Given the description of an element on the screen output the (x, y) to click on. 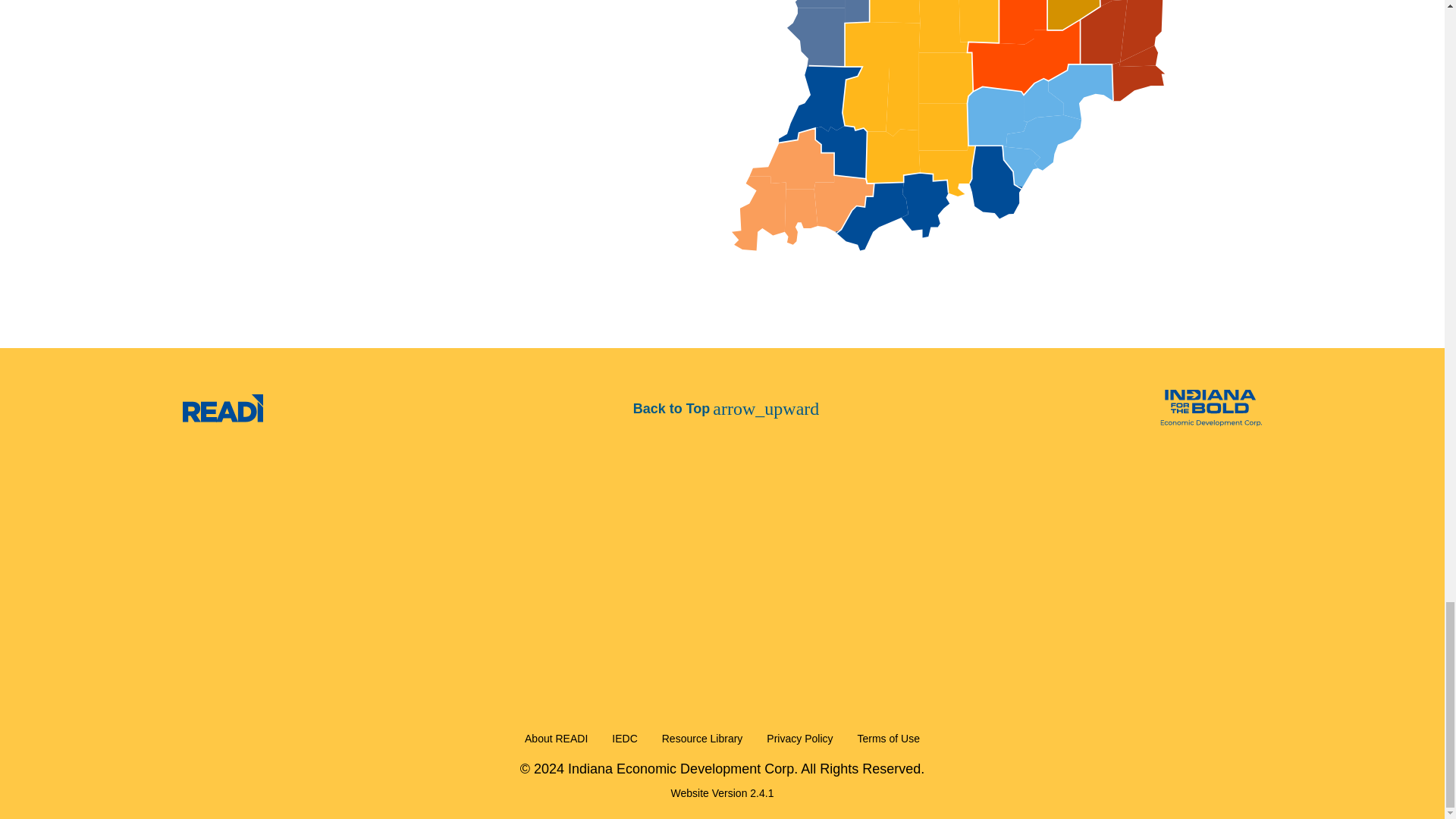
Form 0 (721, 556)
Resource Library (702, 738)
About READI (555, 738)
Privacy Policy (799, 738)
Terms of Use (887, 738)
IEDC (624, 738)
